Given the description of an element on the screen output the (x, y) to click on. 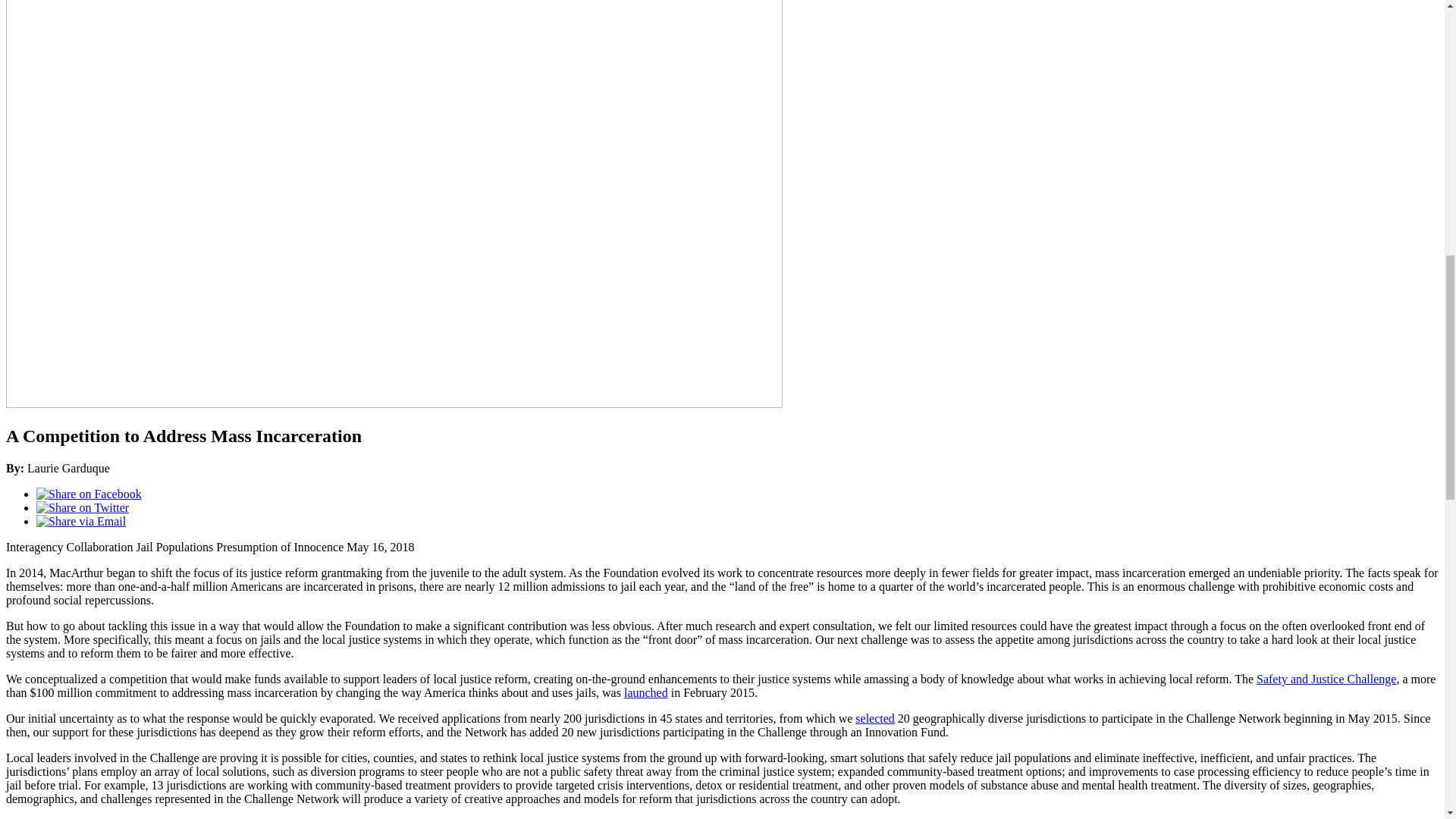
selected (875, 717)
Safety and Justice Challenge (1326, 678)
launched (646, 692)
